Given the description of an element on the screen output the (x, y) to click on. 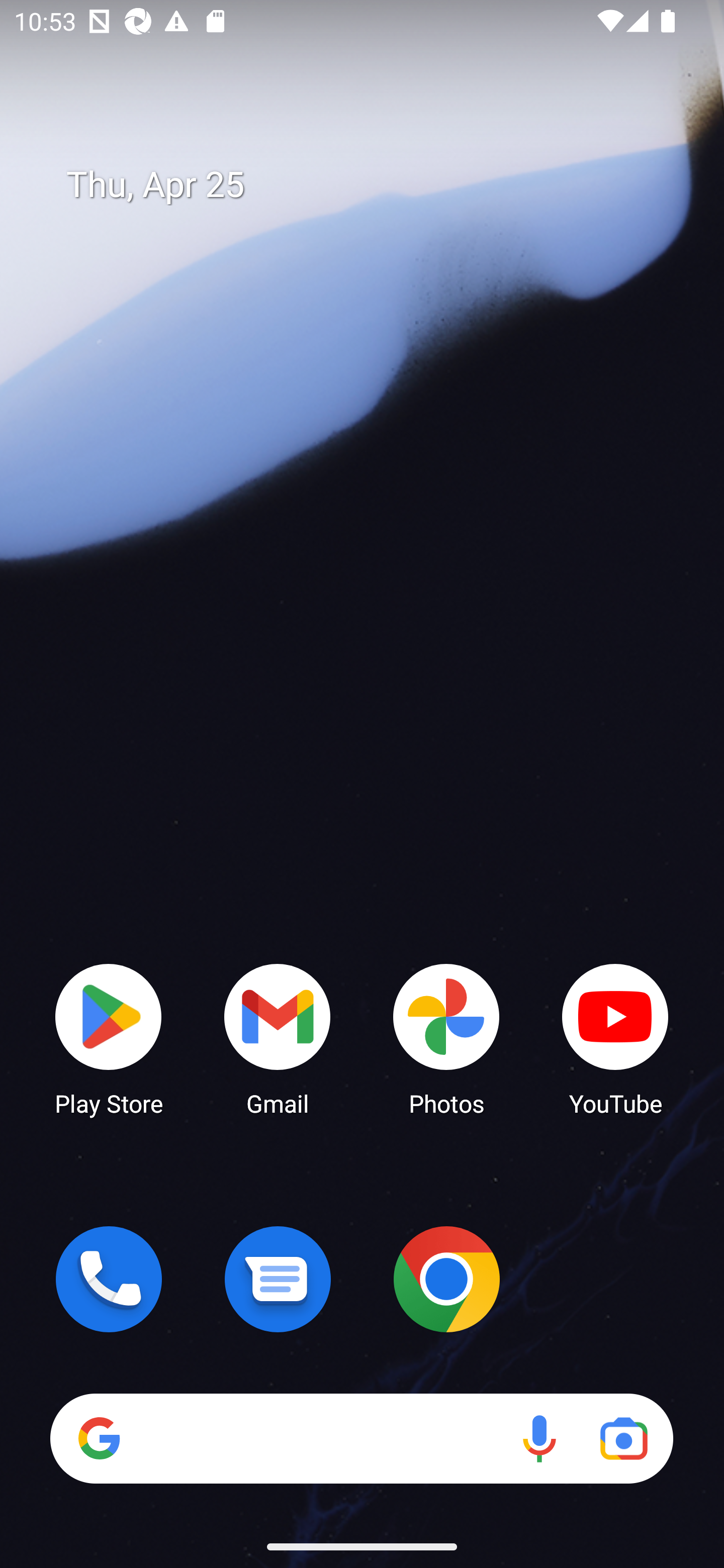
Thu, Apr 25 (375, 184)
Play Store (108, 1038)
Gmail (277, 1038)
Photos (445, 1038)
YouTube (615, 1038)
Phone (108, 1279)
Messages (277, 1279)
Chrome (446, 1279)
Search Voice search Google Lens (361, 1438)
Voice search (539, 1438)
Google Lens (623, 1438)
